Given the description of an element on the screen output the (x, y) to click on. 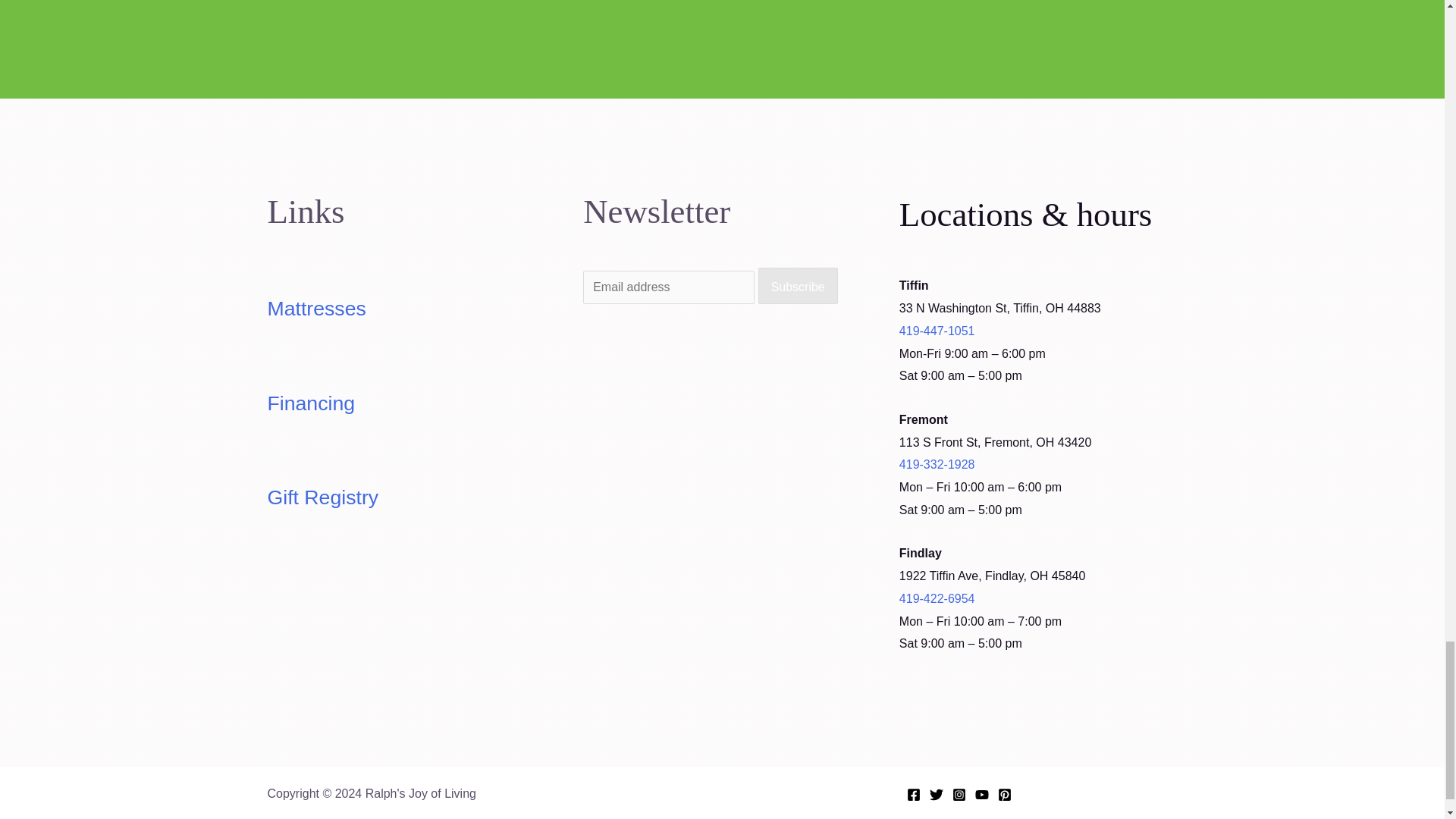
Financing (310, 403)
419-332-1928 (994, 475)
Mattresses (315, 308)
Gift Registry (322, 497)
Subscribe (798, 285)
419-447-1051 (937, 330)
